Given the description of an element on the screen output the (x, y) to click on. 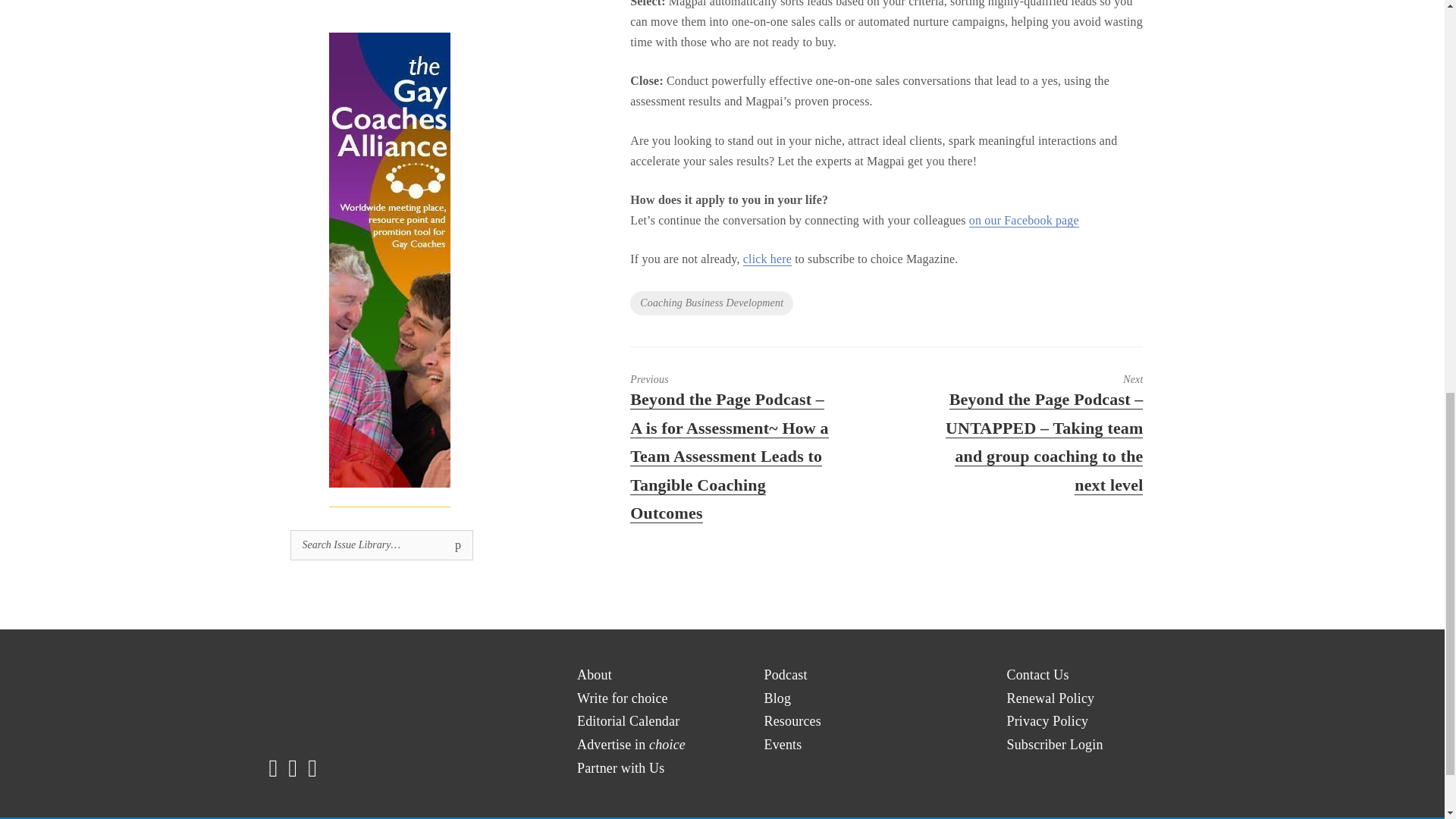
Coaching Business Development (711, 303)
on our Facebook page (1023, 220)
Partner with Us (619, 768)
Editorial Calendar (627, 721)
Podcast (786, 675)
Advertise in choice (630, 744)
Blog (778, 698)
click here (767, 259)
About (593, 675)
Write for choice (622, 698)
Search for: (381, 544)
